Given the description of an element on the screen output the (x, y) to click on. 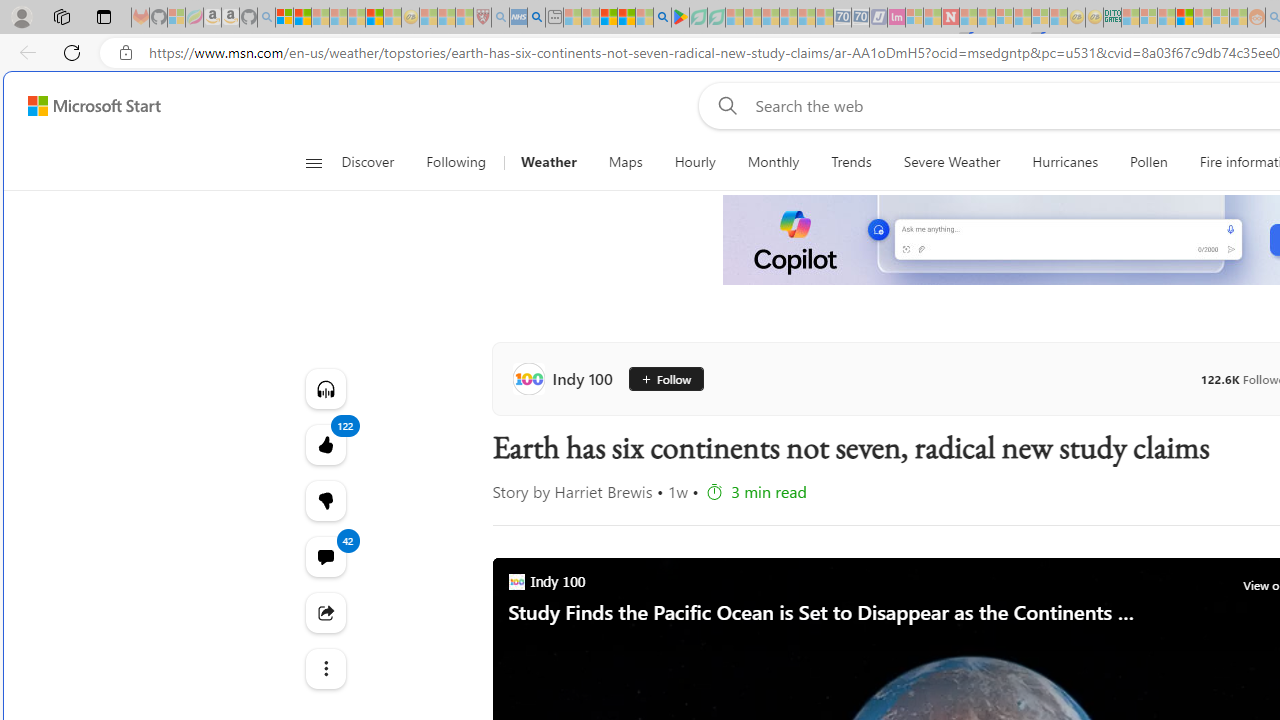
Severe Weather (951, 162)
Hourly (694, 162)
Class: at-item (324, 668)
